Given the description of an element on the screen output the (x, y) to click on. 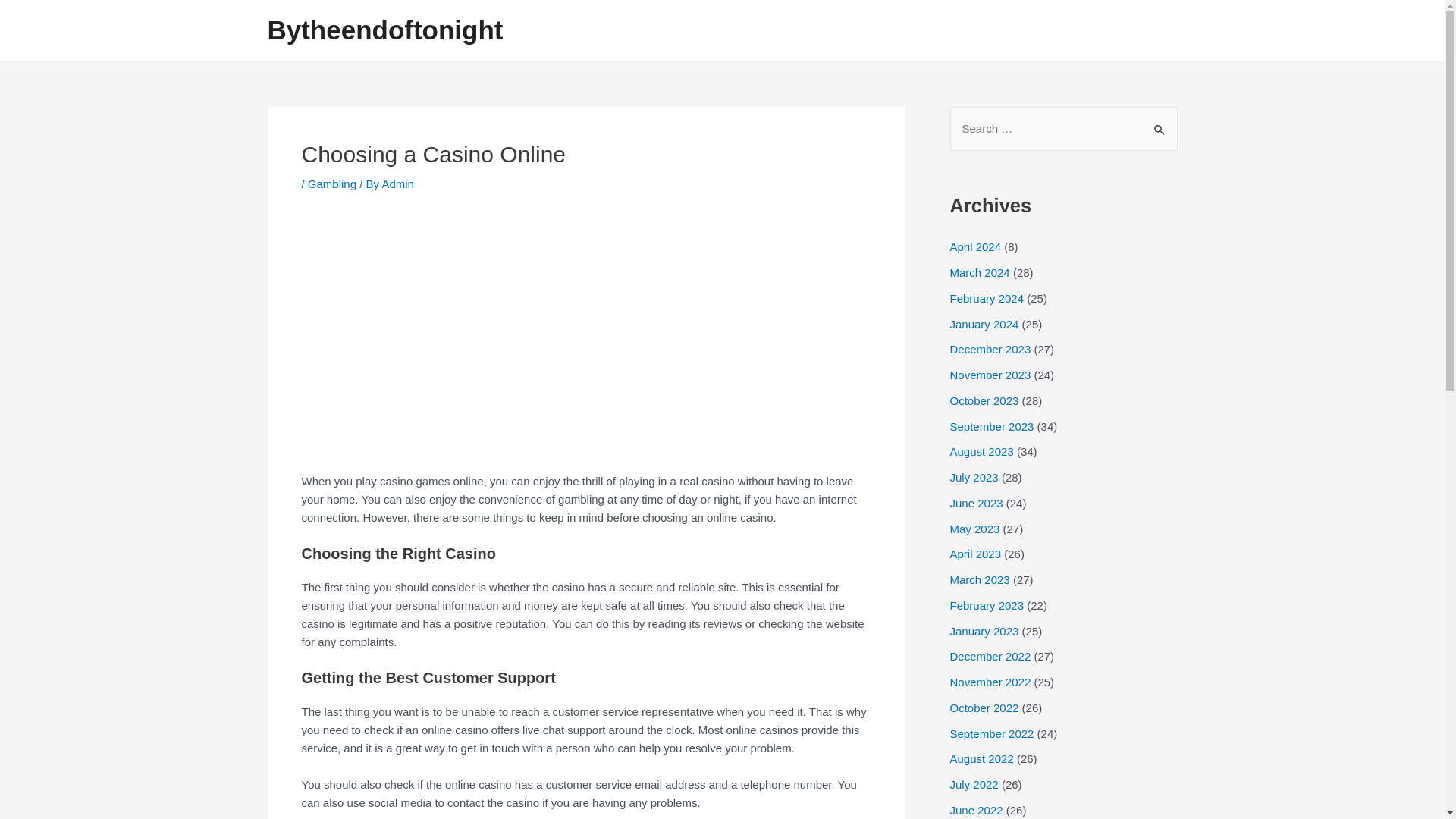
View all posts by Admin (397, 183)
April 2023 (975, 553)
October 2023 (983, 400)
July 2022 (973, 784)
September 2022 (991, 732)
August 2022 (981, 758)
March 2023 (979, 579)
Search (1159, 122)
July 2023 (973, 477)
November 2023 (989, 374)
Gambling (331, 183)
Admin (397, 183)
May 2023 (973, 527)
Bytheendoftonight (384, 30)
March 2024 (979, 272)
